Given the description of an element on the screen output the (x, y) to click on. 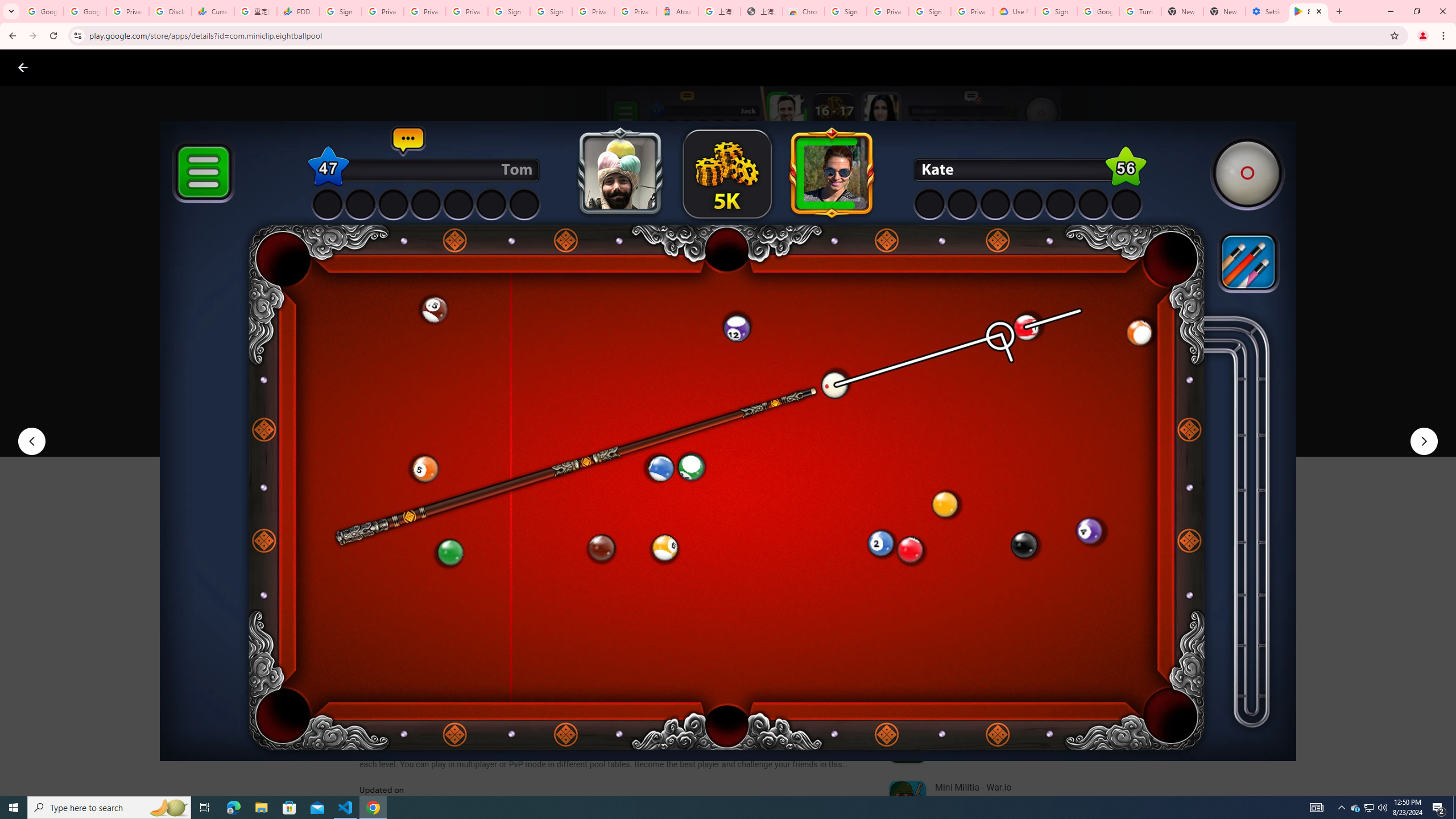
Sign in - Google Accounts (845, 11)
Sign in - Google Accounts (1055, 11)
Add to wishlist (576, 422)
Chrome Web Store - Color themes by Chrome (803, 11)
Apps (182, 67)
Expand (978, 497)
Sign in - Google Accounts (550, 11)
See more information on About this game (472, 681)
Kids (219, 67)
Settings - System (1266, 11)
